Given the description of an element on the screen output the (x, y) to click on. 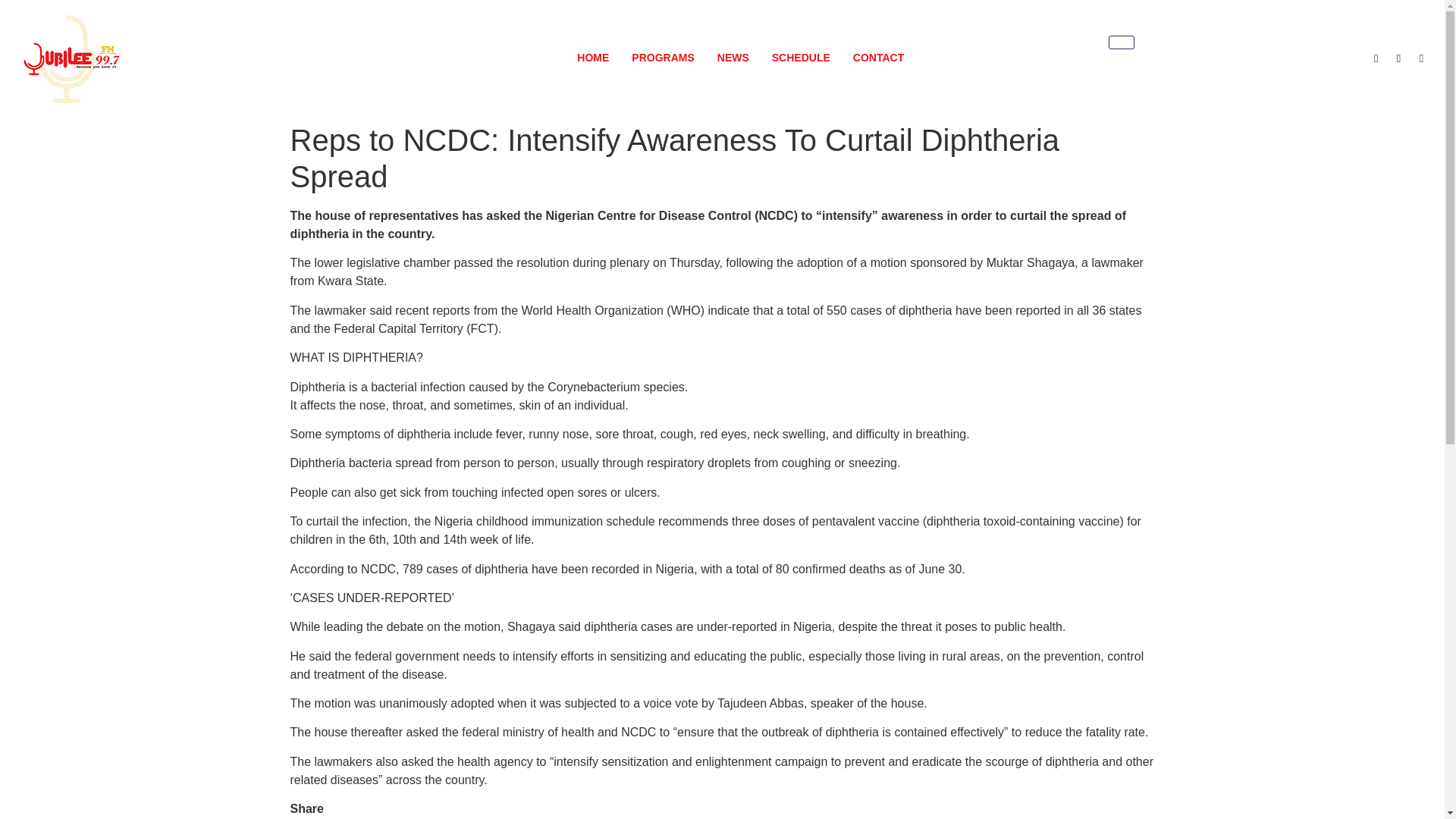
NEWS (733, 57)
SCHEDULE (800, 57)
PROGRAMS (662, 57)
CONTACT (878, 57)
HOME (593, 57)
